Given the description of an element on the screen output the (x, y) to click on. 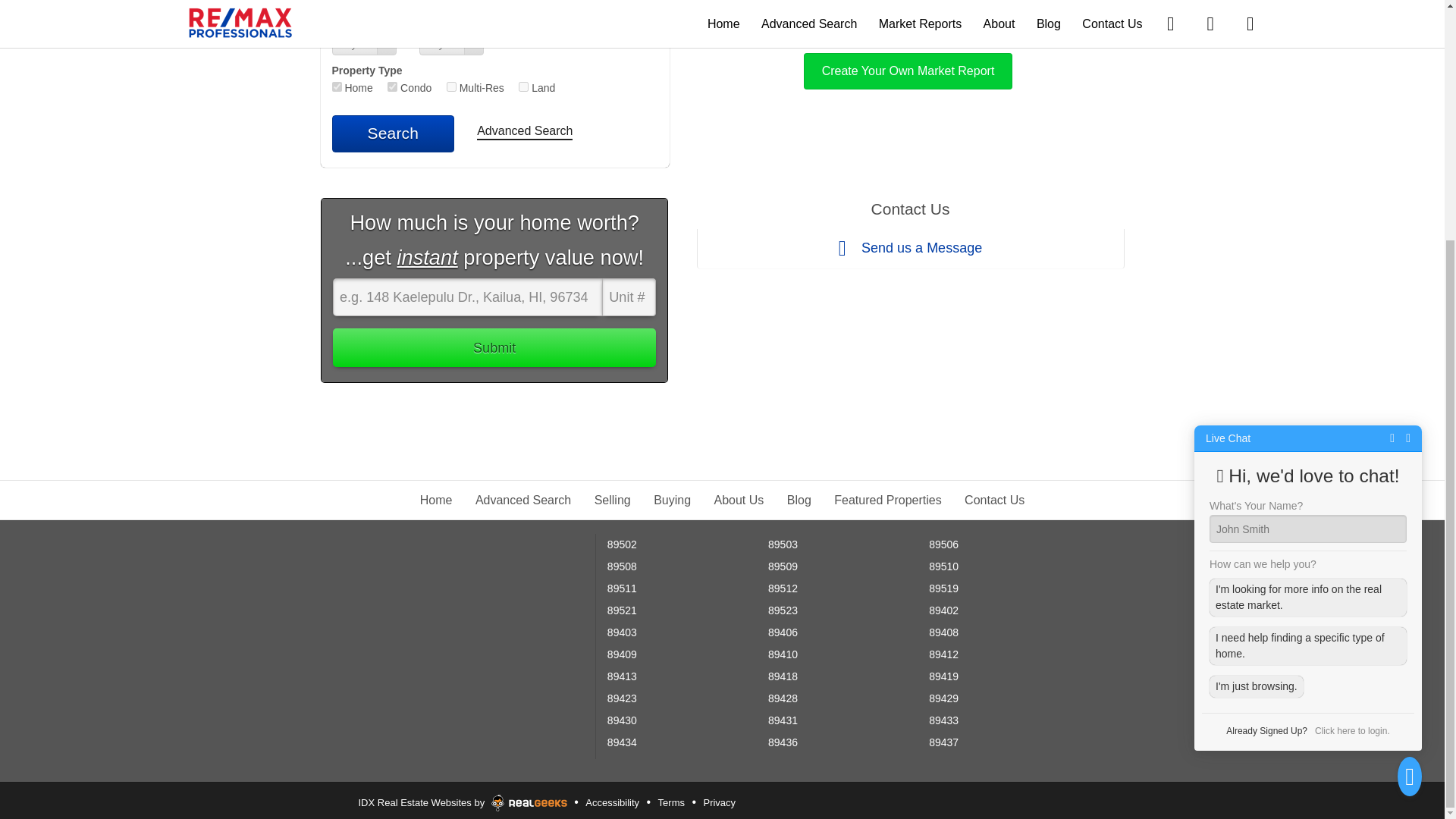
89511 (622, 588)
Advanced Search (524, 132)
Search (392, 133)
Live Chat: undefined (1227, 106)
89512 (782, 588)
89506 (943, 544)
Home (436, 499)
Featured Properties (887, 499)
con (392, 86)
89402 (943, 610)
89503 (782, 544)
89509 (782, 566)
Buying (671, 499)
Selling (612, 499)
89510 (943, 566)
